Given the description of an element on the screen output the (x, y) to click on. 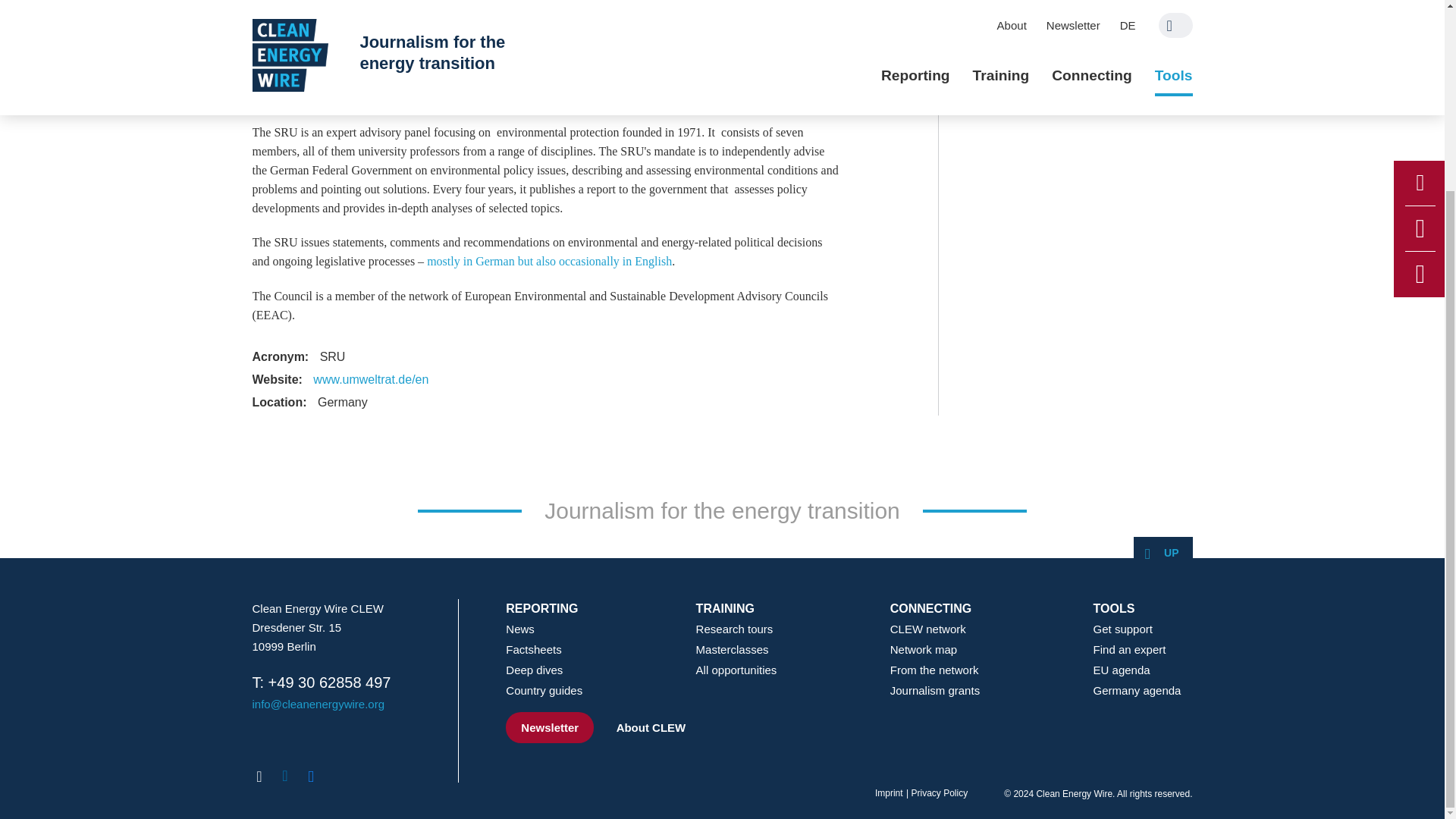
mostly in German but also occasionally in English (548, 260)
